Given the description of an element on the screen output the (x, y) to click on. 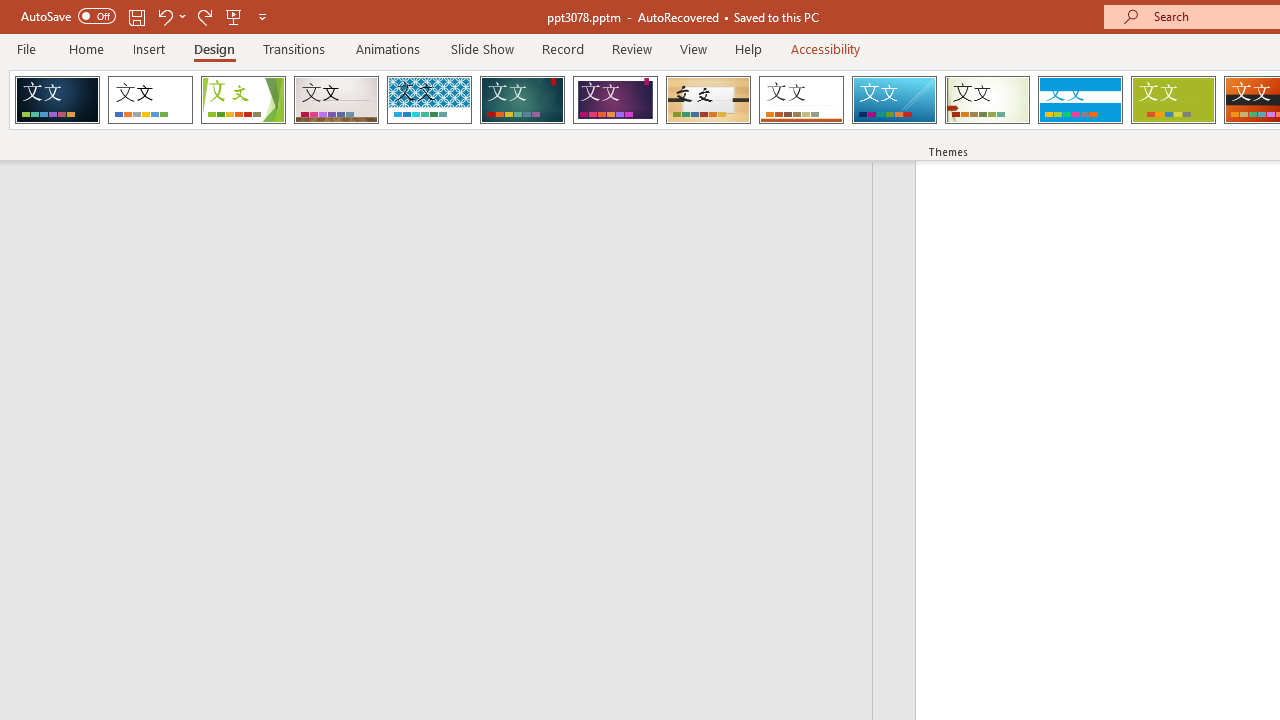
Organic (708, 100)
Frame (57, 100)
Basis (1172, 100)
Ion Boardroom (615, 100)
Gallery (336, 100)
Facet (243, 100)
